Given the description of an element on the screen output the (x, y) to click on. 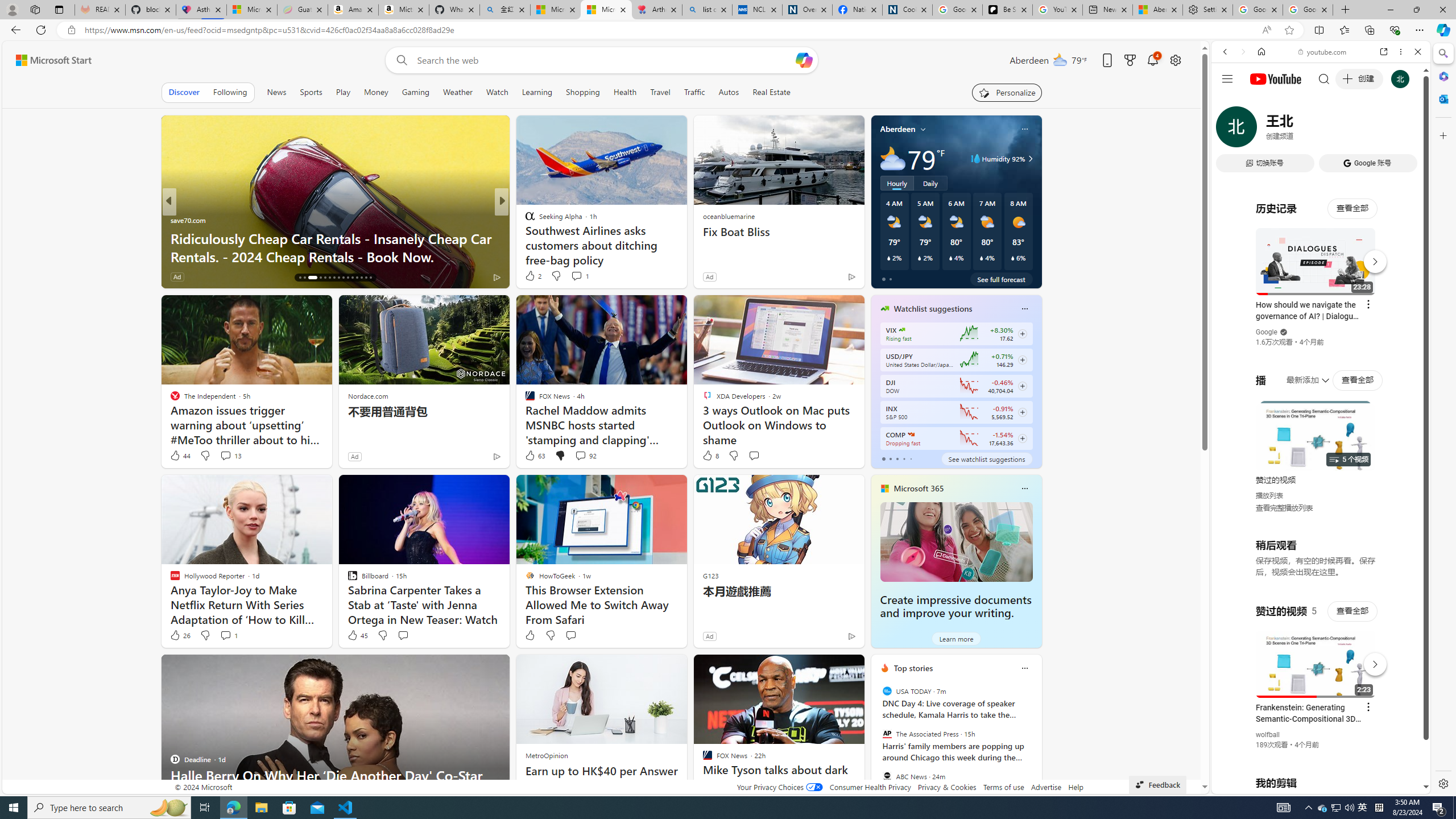
Top stories (913, 668)
This site scope (1259, 102)
Microsoft 365 (918, 488)
How I Got Rid of Microsoft Edge's Unnecessary Features (684, 247)
44 Like (179, 455)
Dislike (550, 634)
Personalize your feed" (1007, 92)
Terms of use (1003, 786)
Create impressive documents and improve your writing. (955, 606)
More options (1401, 51)
CBOE Market Volatility Index (901, 329)
MetroOpinion (546, 755)
